Given the description of an element on the screen output the (x, y) to click on. 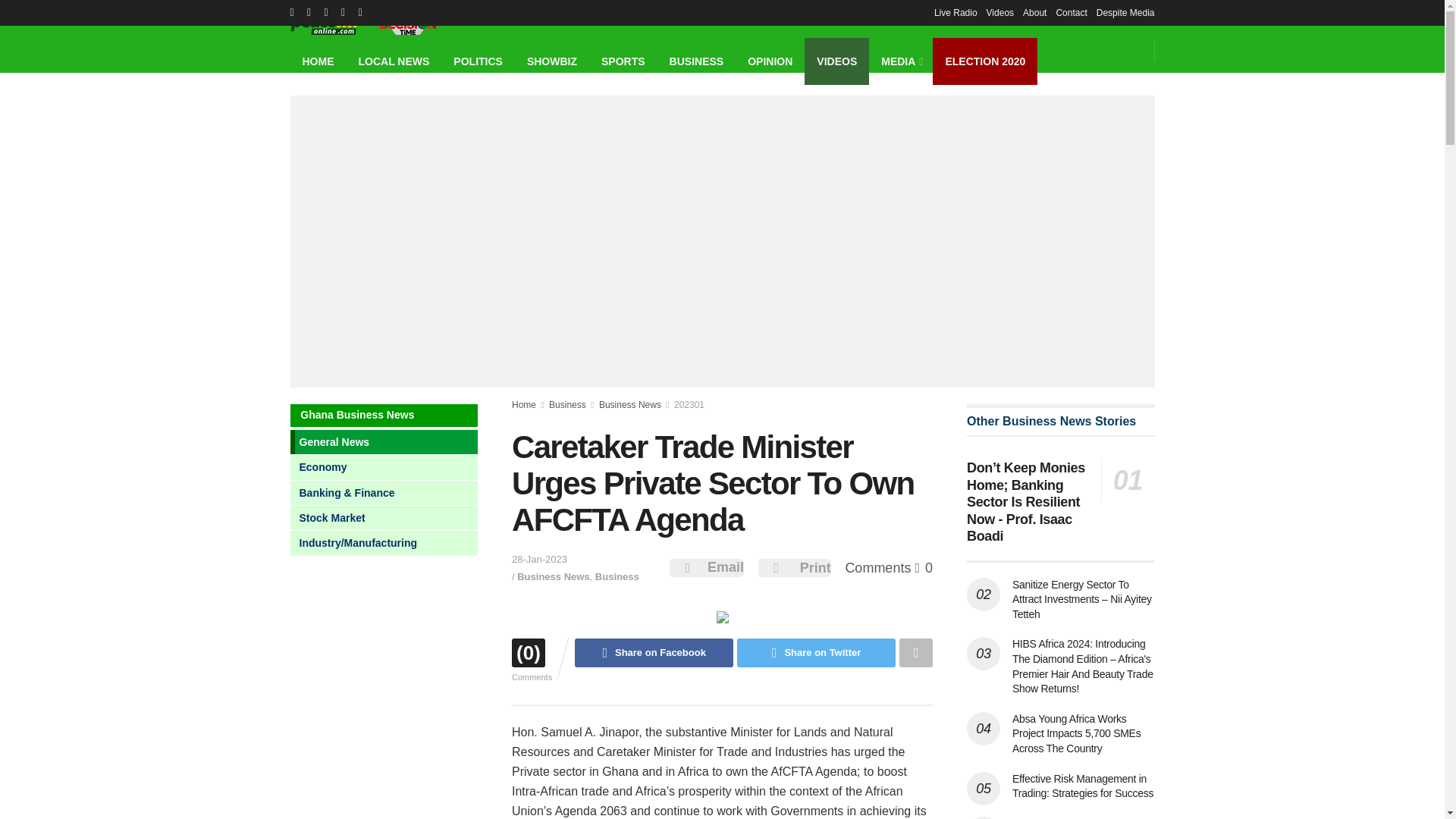
VIDEOS (837, 61)
Ghana Entertainment News (552, 61)
Share on Facebook (654, 652)
Email (725, 567)
Business (567, 404)
Ghana Business News (697, 61)
Business News (552, 576)
Comments 0 (888, 567)
Contact Us (1070, 12)
Videos (1000, 12)
